Given the description of an element on the screen output the (x, y) to click on. 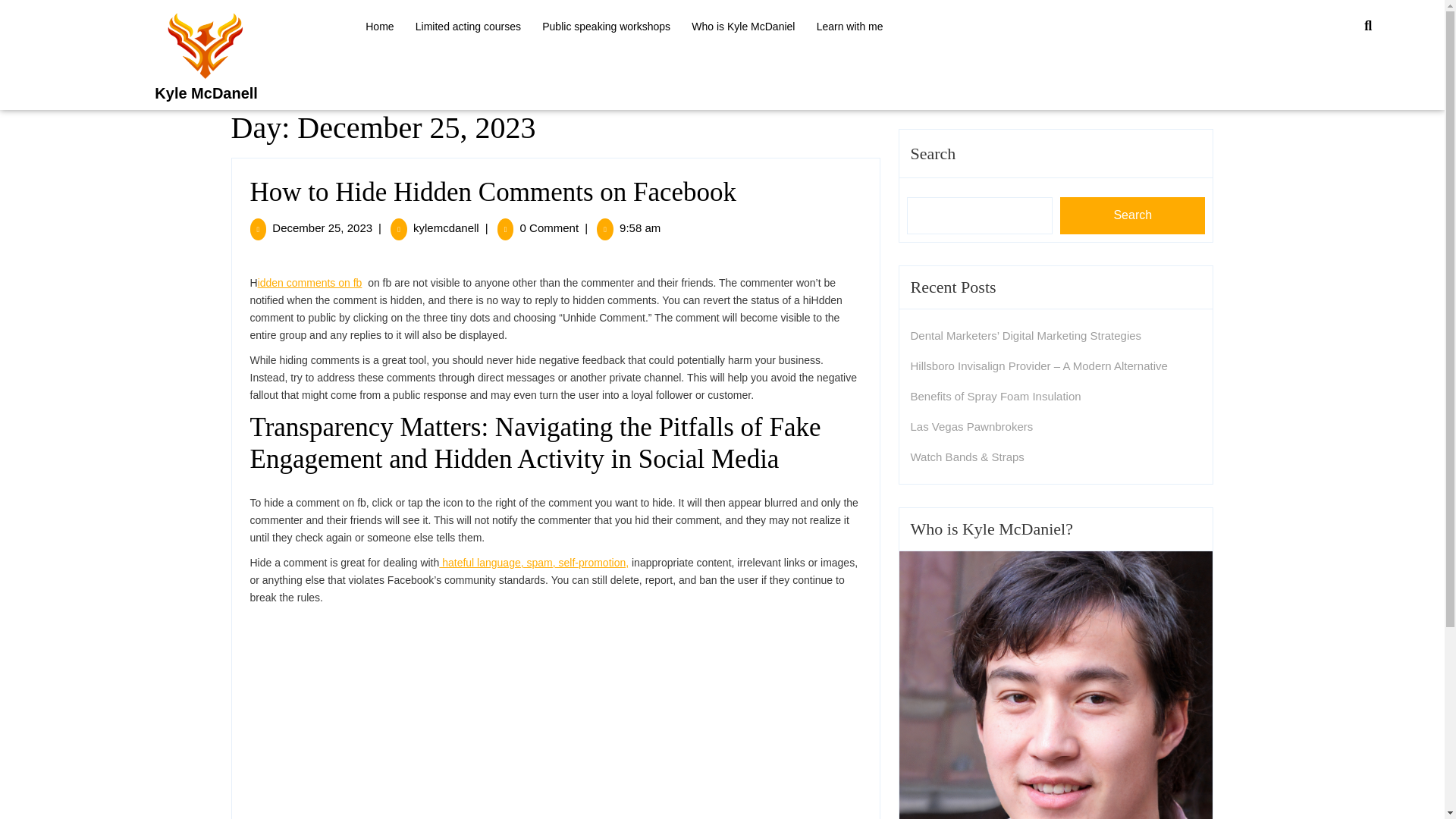
Kyle McDanell (205, 93)
Public speaking workshops (605, 26)
hateful language, spam, self-promotion, (533, 562)
Benefits of Spray Foam Insulation (995, 395)
Learn with me (850, 26)
Who is Kyle McDaniel (742, 26)
Home (322, 227)
Las Vegas Pawnbrokers (379, 26)
